Given the description of an element on the screen output the (x, y) to click on. 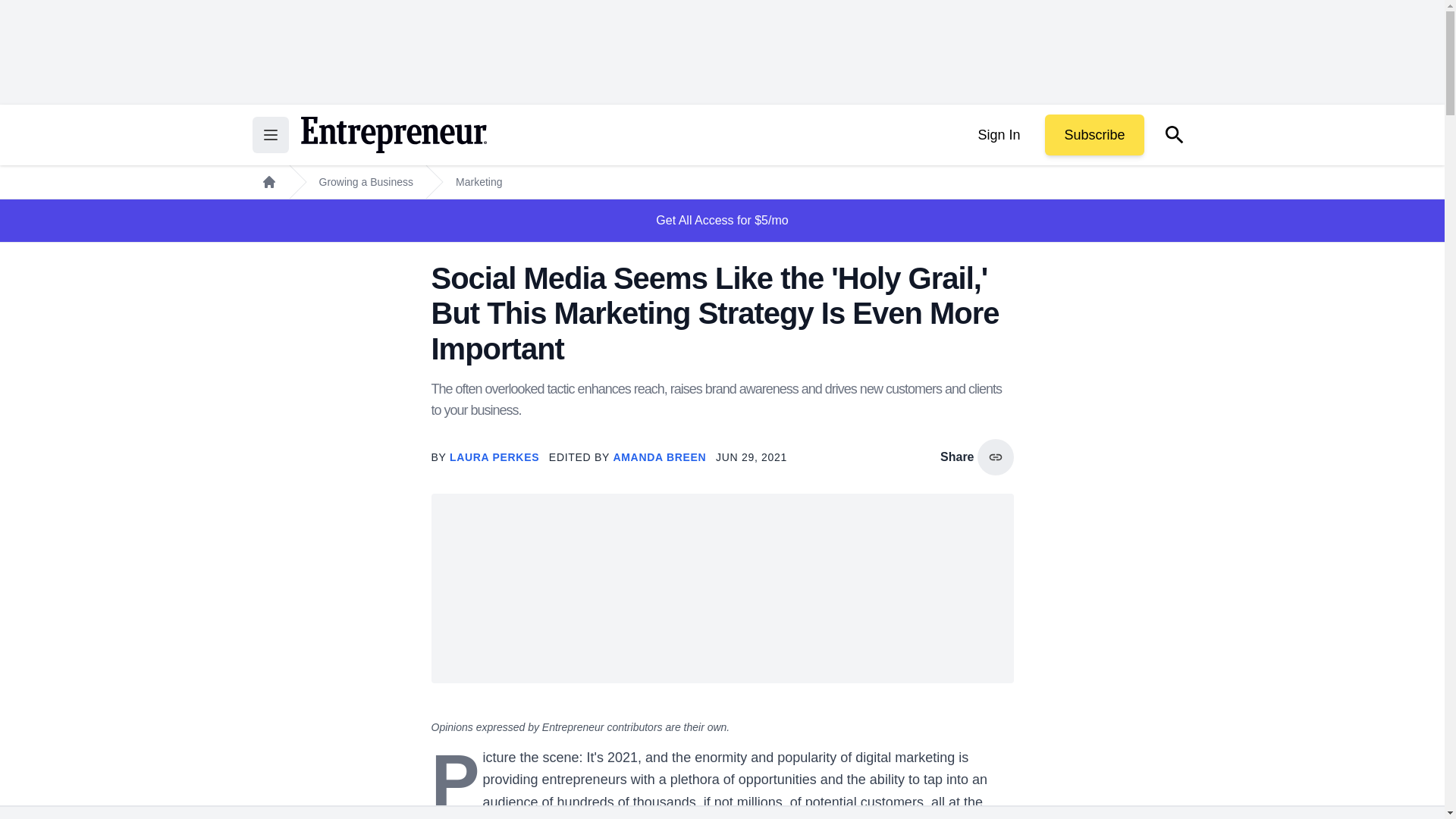
Subscribe (1093, 134)
Sign In (998, 134)
copy (994, 456)
Return to the home page (392, 135)
